Given the description of an element on the screen output the (x, y) to click on. 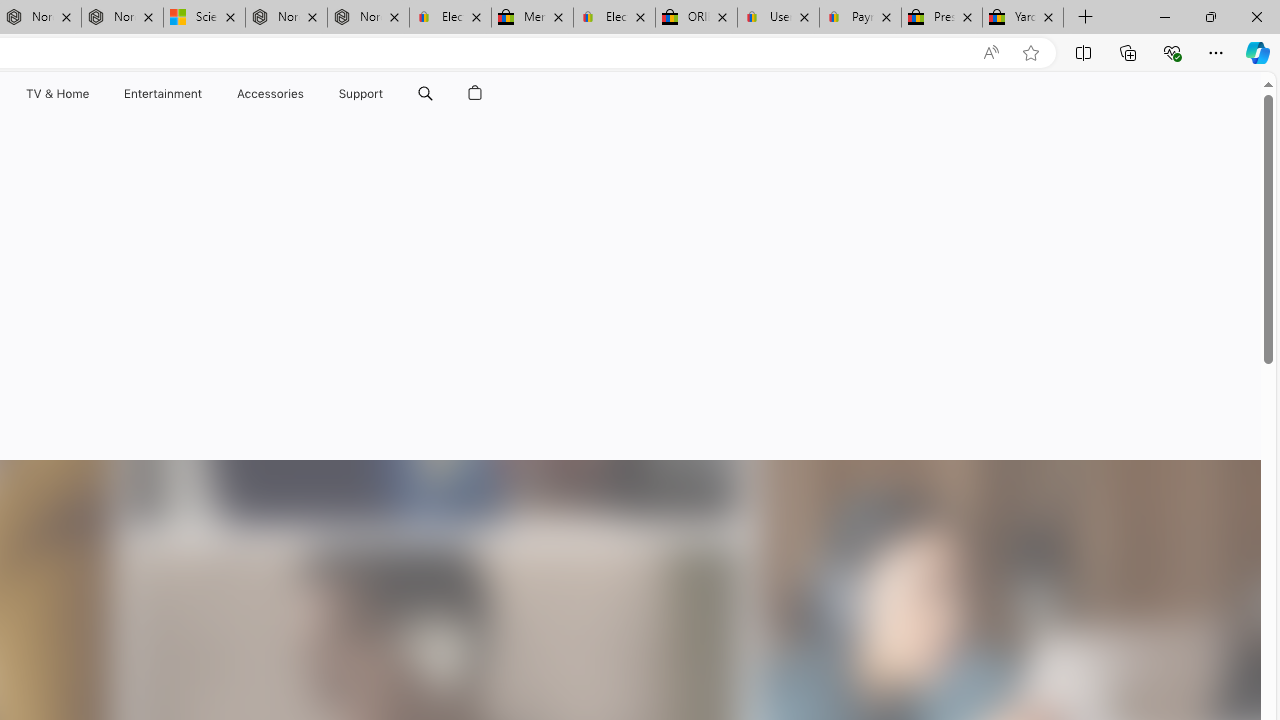
TV and Home (56, 93)
Support (361, 93)
Shopping Bag (475, 93)
TV and Home menu (92, 93)
Class: globalnav-submenu-trigger-item (387, 93)
Accessories (269, 93)
